Given the description of an element on the screen output the (x, y) to click on. 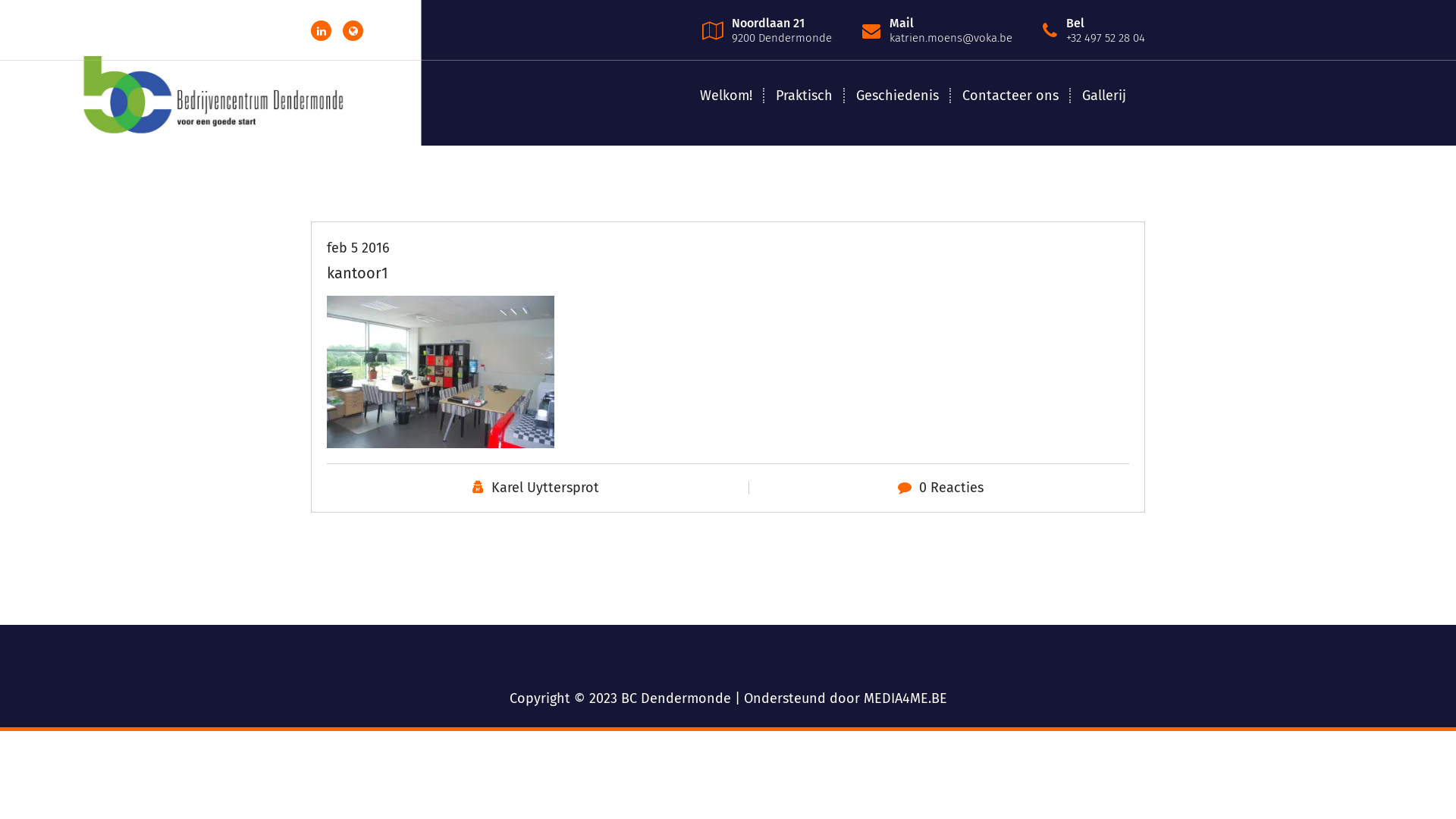
Praktisch Element type: text (803, 95)
feb 5 2016 Element type: text (357, 247)
Mail
katrien.moens@voka.be Element type: text (950, 29)
Welkom! Element type: text (725, 95)
Bel
+32 497 52 28 04 Element type: text (1105, 29)
Karel Uyttersprot Element type: text (545, 487)
Contacteer ons Element type: text (1010, 95)
0 Reacties Element type: text (951, 487)
Noordlaan 21
9200 Dendermonde Element type: text (781, 29)
Geschiedenis Element type: text (897, 95)
Gallerij Element type: text (1104, 95)
